Given the description of an element on the screen output the (x, y) to click on. 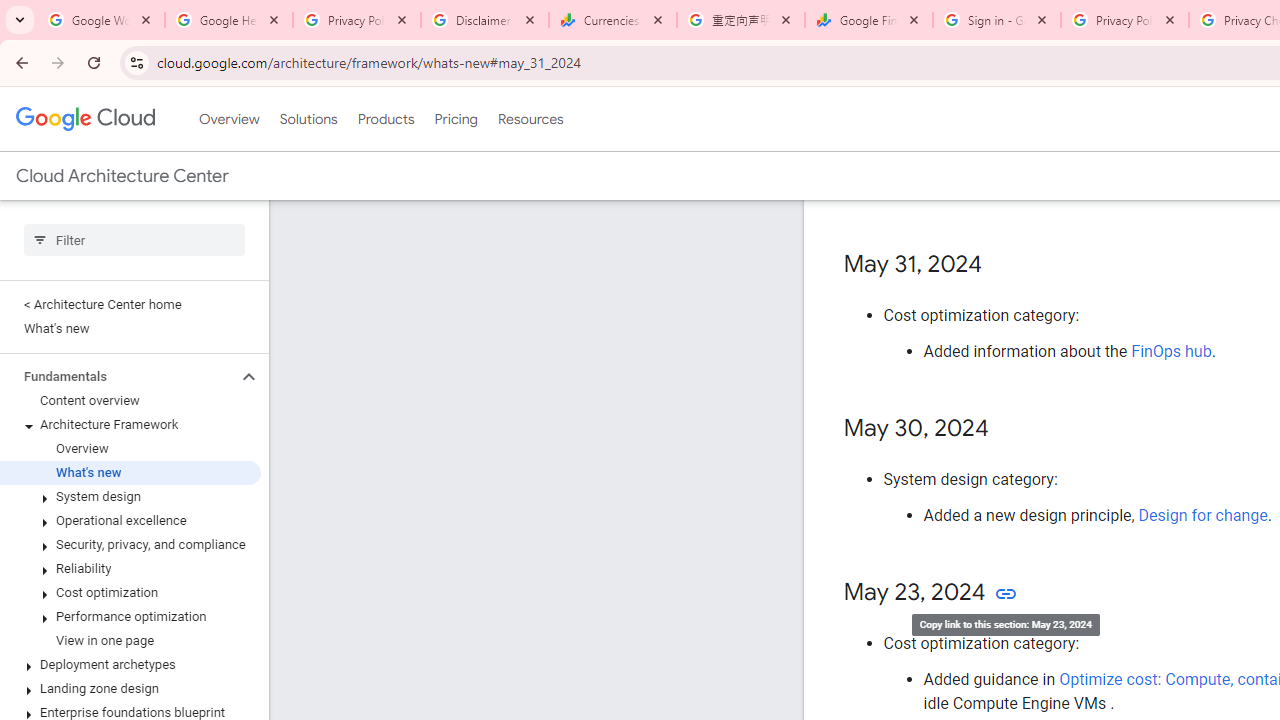
Copy link to this section: May 31, 2024 (1001, 264)
Solutions (308, 119)
FinOps hub (1171, 351)
View in one page (130, 641)
Performance optimization (130, 616)
Reliability (130, 569)
Currencies - Google Finance (613, 20)
